Given the description of an element on the screen output the (x, y) to click on. 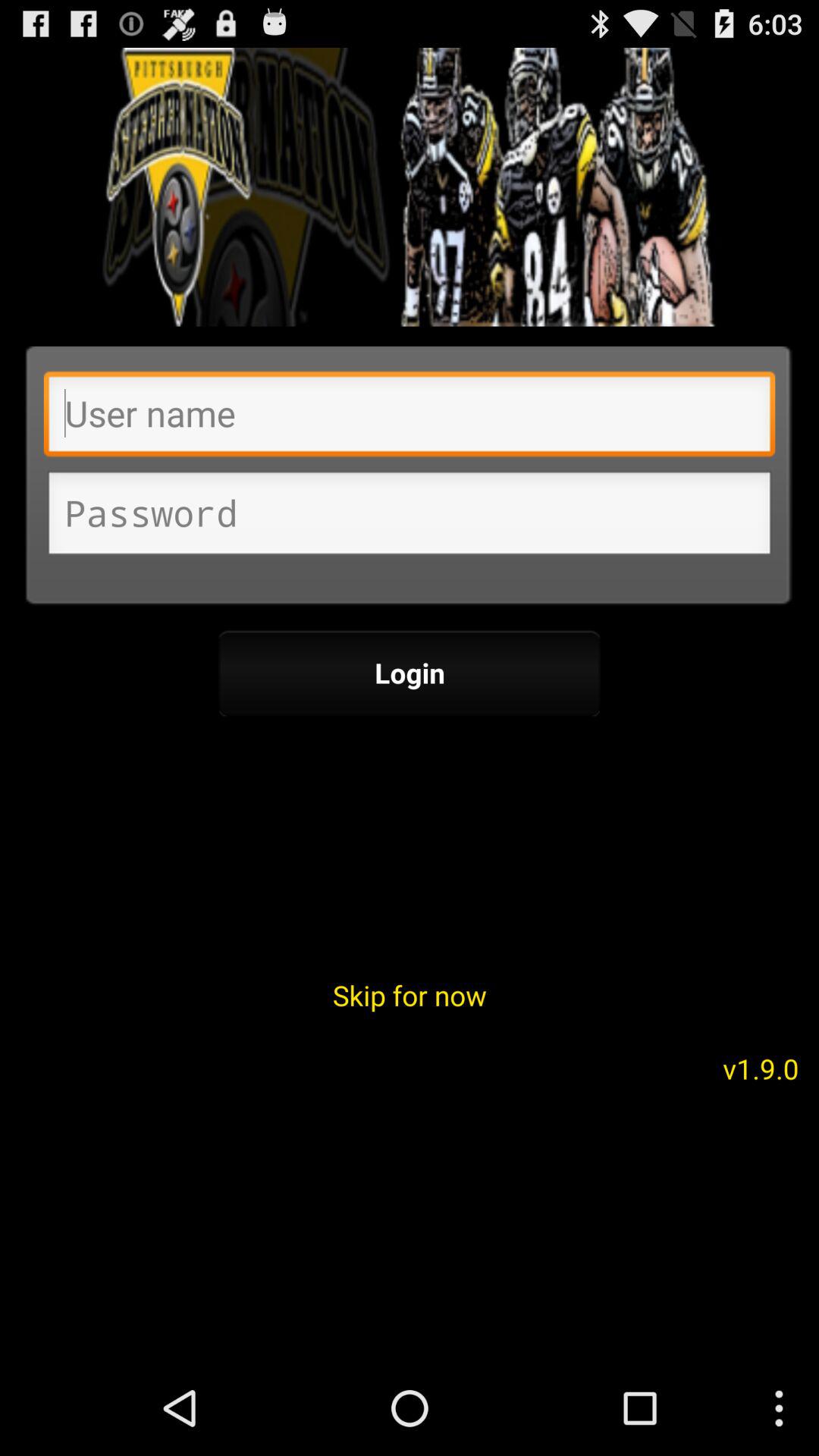
choose item above the v1.9.0 item (409, 995)
